Given the description of an element on the screen output the (x, y) to click on. 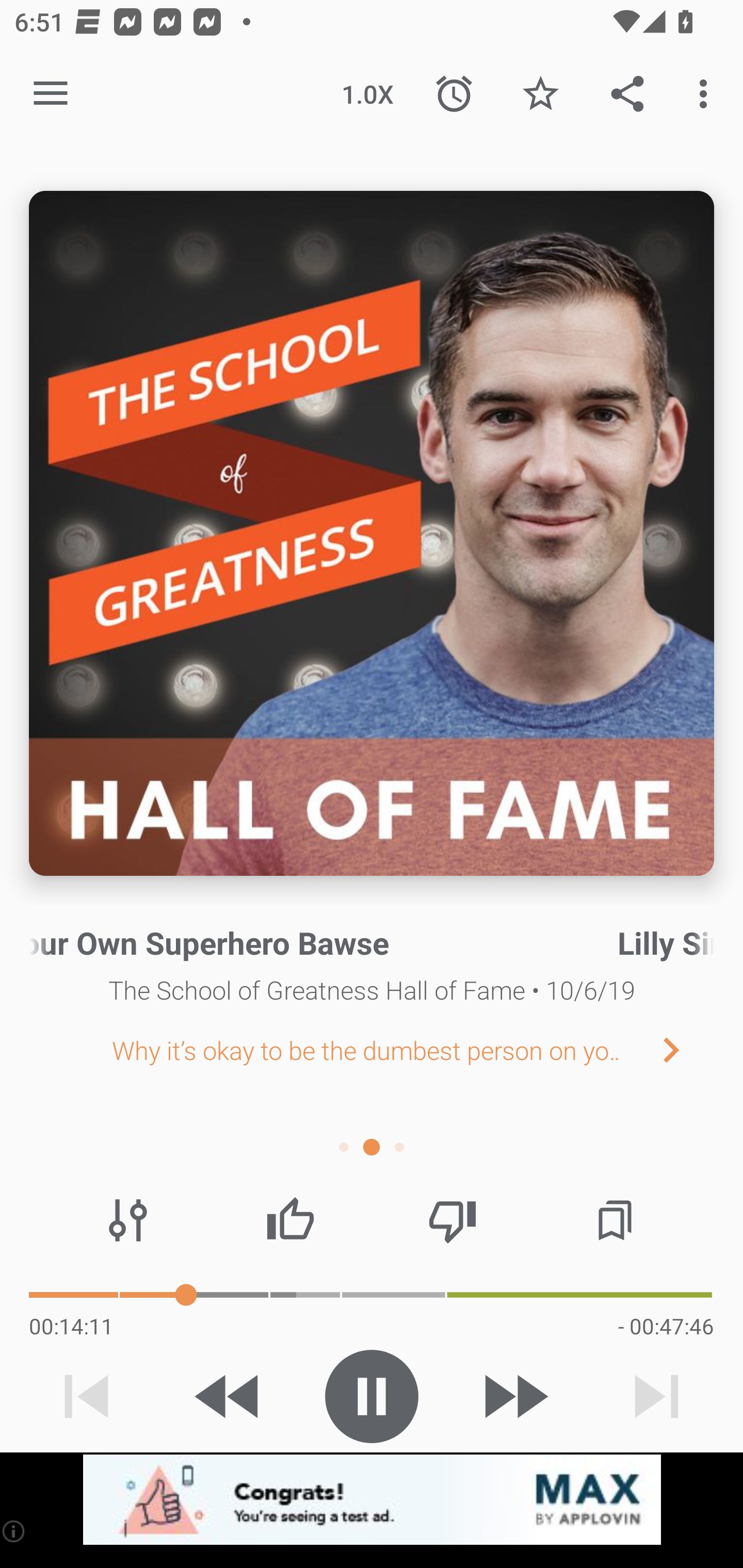
Open navigation sidebar (50, 93)
1.0X (366, 93)
Sleep Timer (453, 93)
Favorite (540, 93)
Share (626, 93)
More options (706, 93)
Episode description (371, 533)
Next Chapter (686, 1049)
Audio effects (127, 1220)
Thumbs up (290, 1220)
Thumbs down (452, 1220)
Chapters / Bookmarks (614, 1220)
- 00:47:46 (666, 1325)
Previous track (86, 1395)
Skip 15s backward (228, 1395)
Play / Pause (371, 1395)
Skip 30s forward (513, 1395)
Next track (656, 1395)
app-monetization (371, 1500)
(i) (14, 1531)
